Given the description of an element on the screen output the (x, y) to click on. 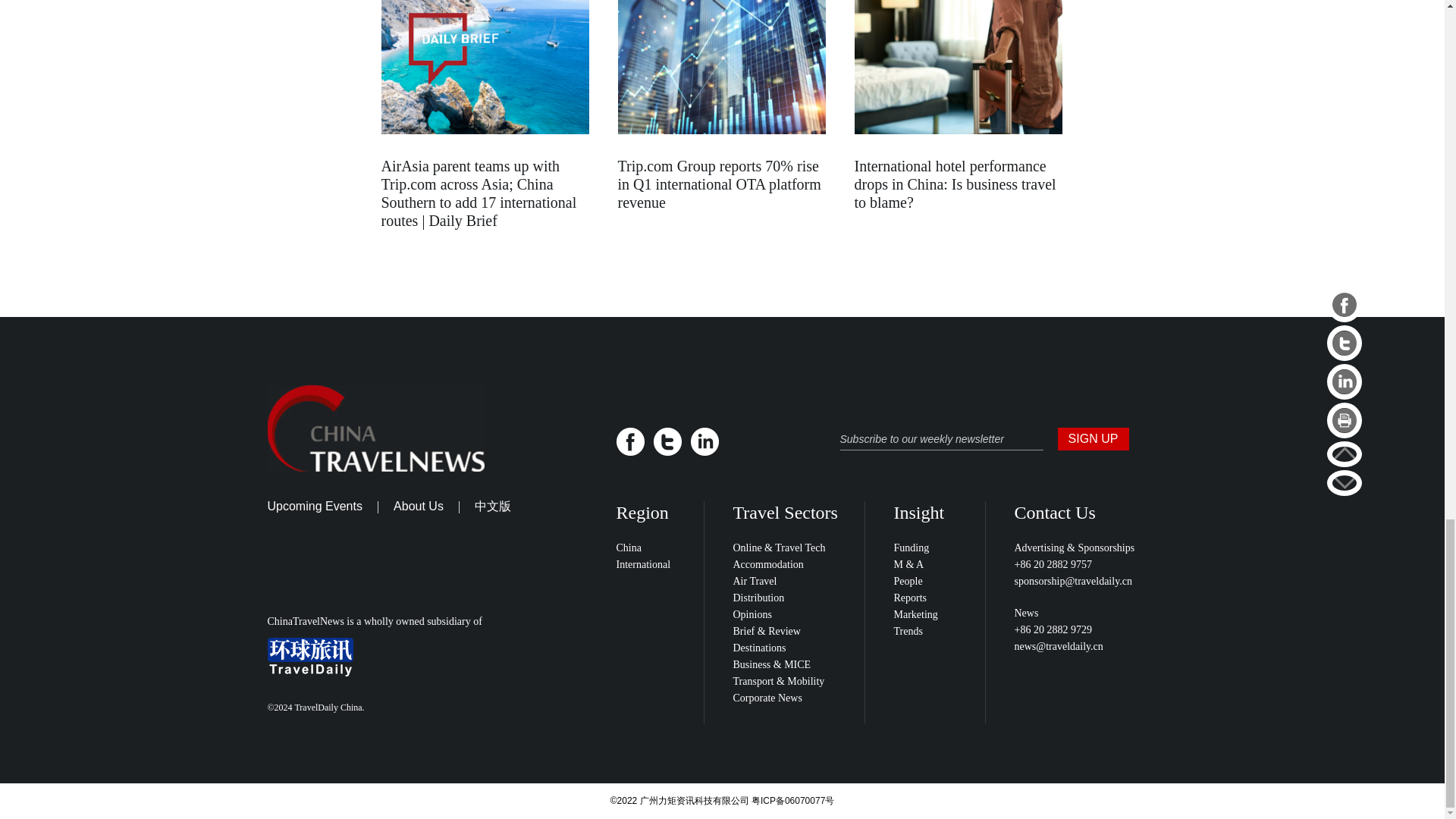
SIGN UP (1092, 438)
Upcoming Events (313, 505)
